Given the description of an element on the screen output the (x, y) to click on. 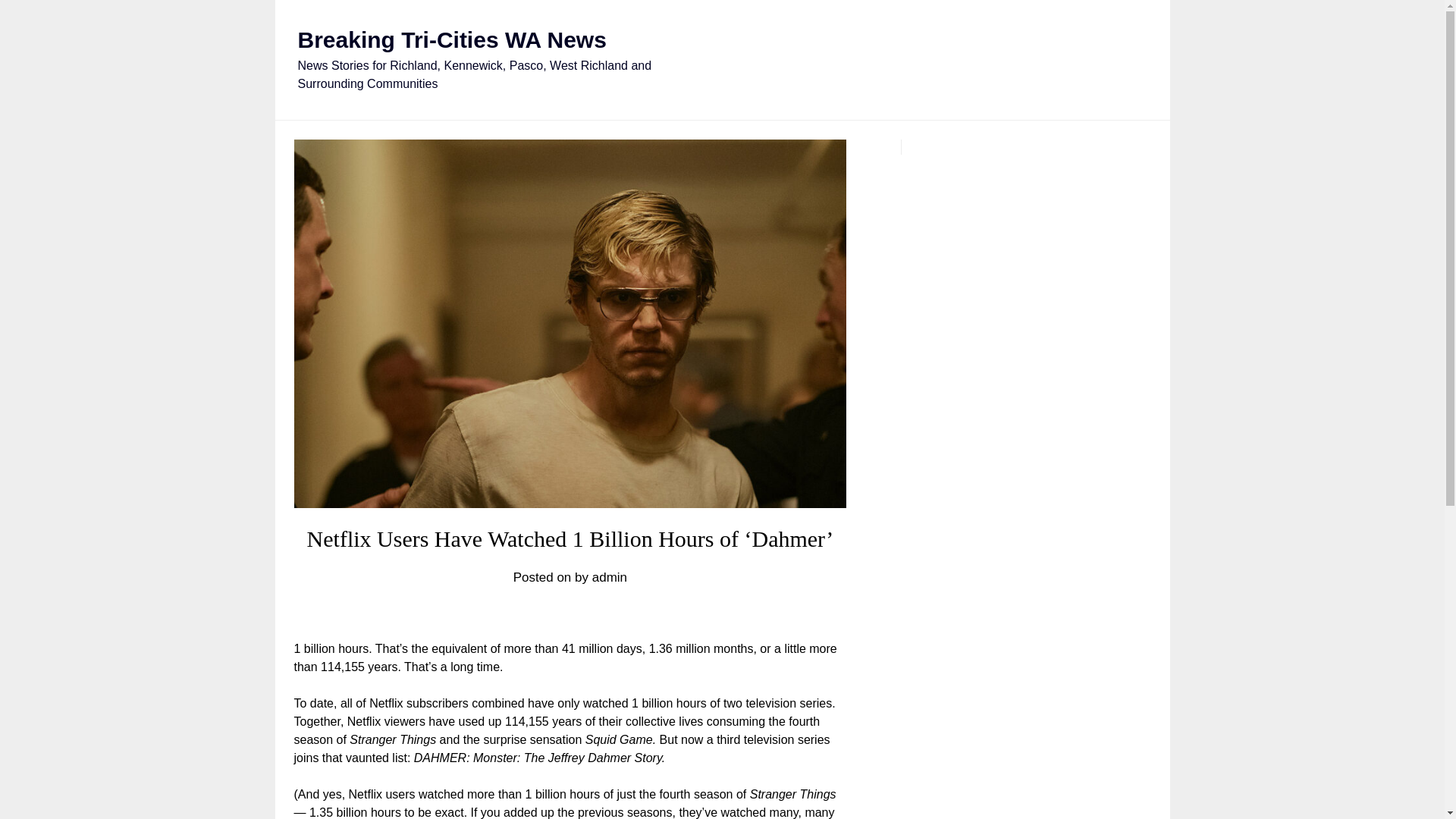
DAHMER: Monster: The Jeffrey Dahmer Story (537, 757)
1 billion hours (562, 793)
Breaking Tri-Cities WA News (451, 39)
Netflix (386, 703)
admin (609, 577)
